Given the description of an element on the screen output the (x, y) to click on. 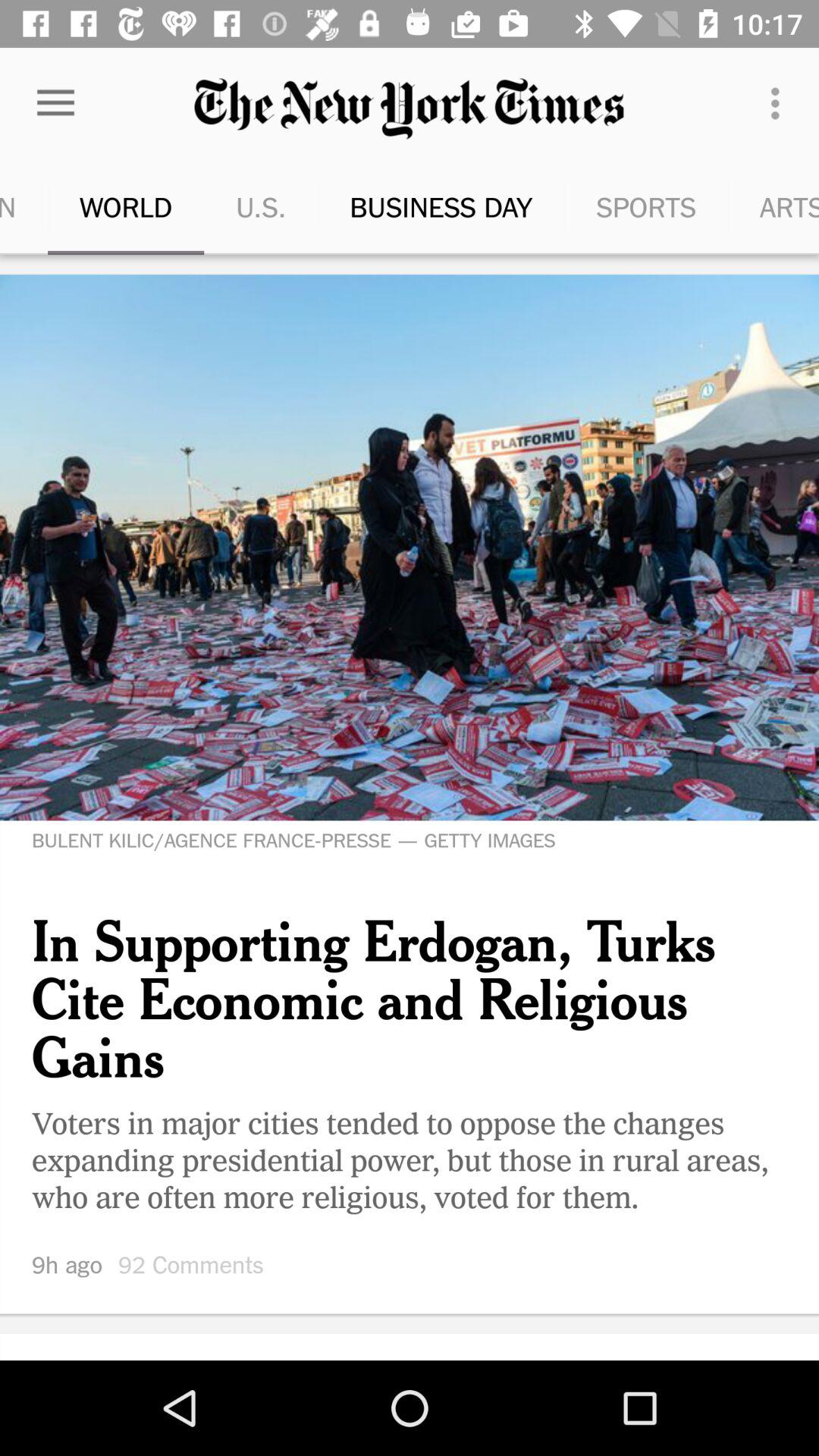
choose item to the left of the new york (779, 103)
